Given the description of an element on the screen output the (x, y) to click on. 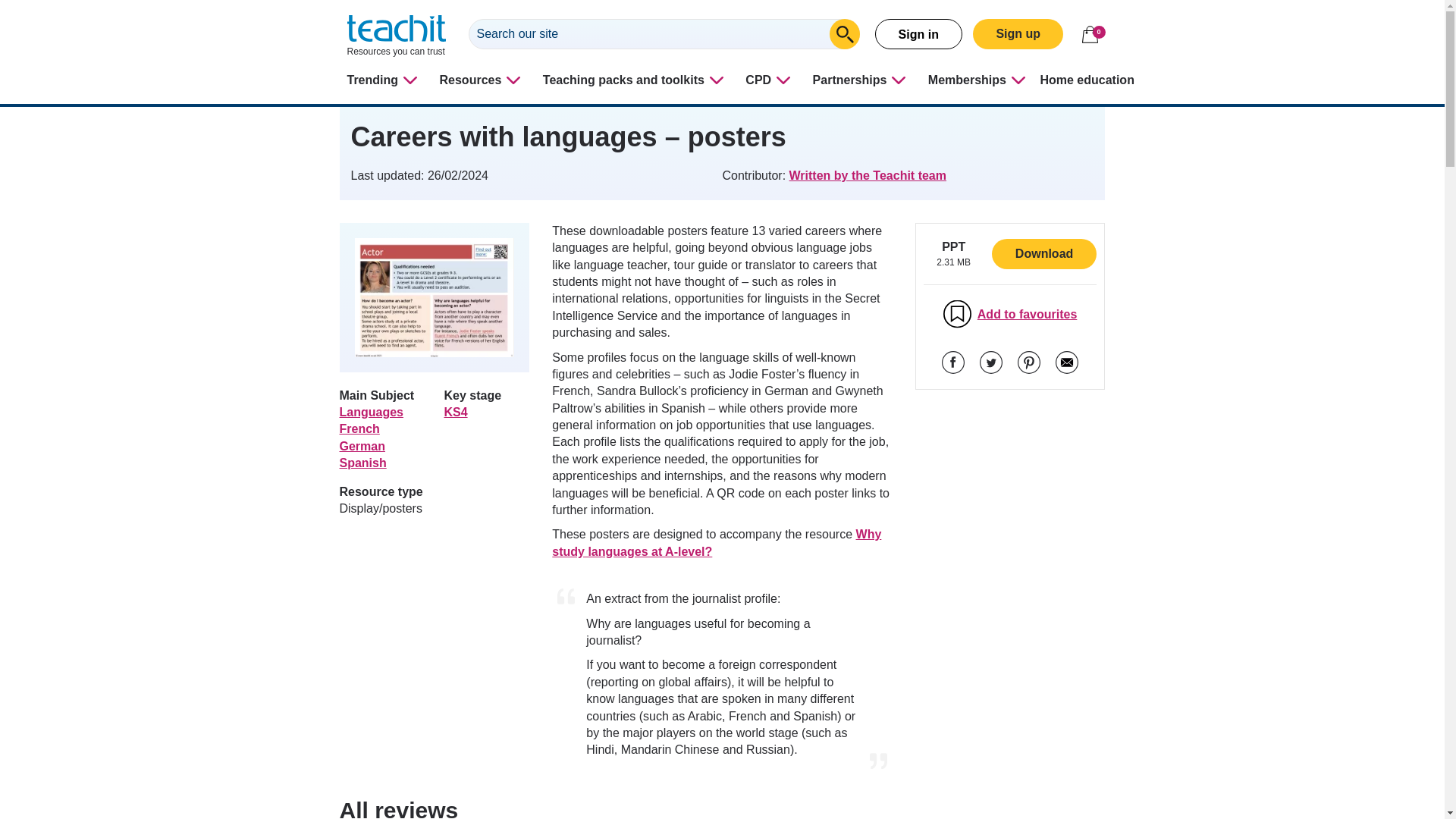
0 (1089, 34)
CPD (770, 80)
Sign in (918, 33)
Trending (384, 80)
Submit (844, 33)
Home (396, 36)
Resources (482, 80)
Basket (1089, 34)
Enter the terms you wish to search for. (664, 33)
Submit (844, 33)
